Given the description of an element on the screen output the (x, y) to click on. 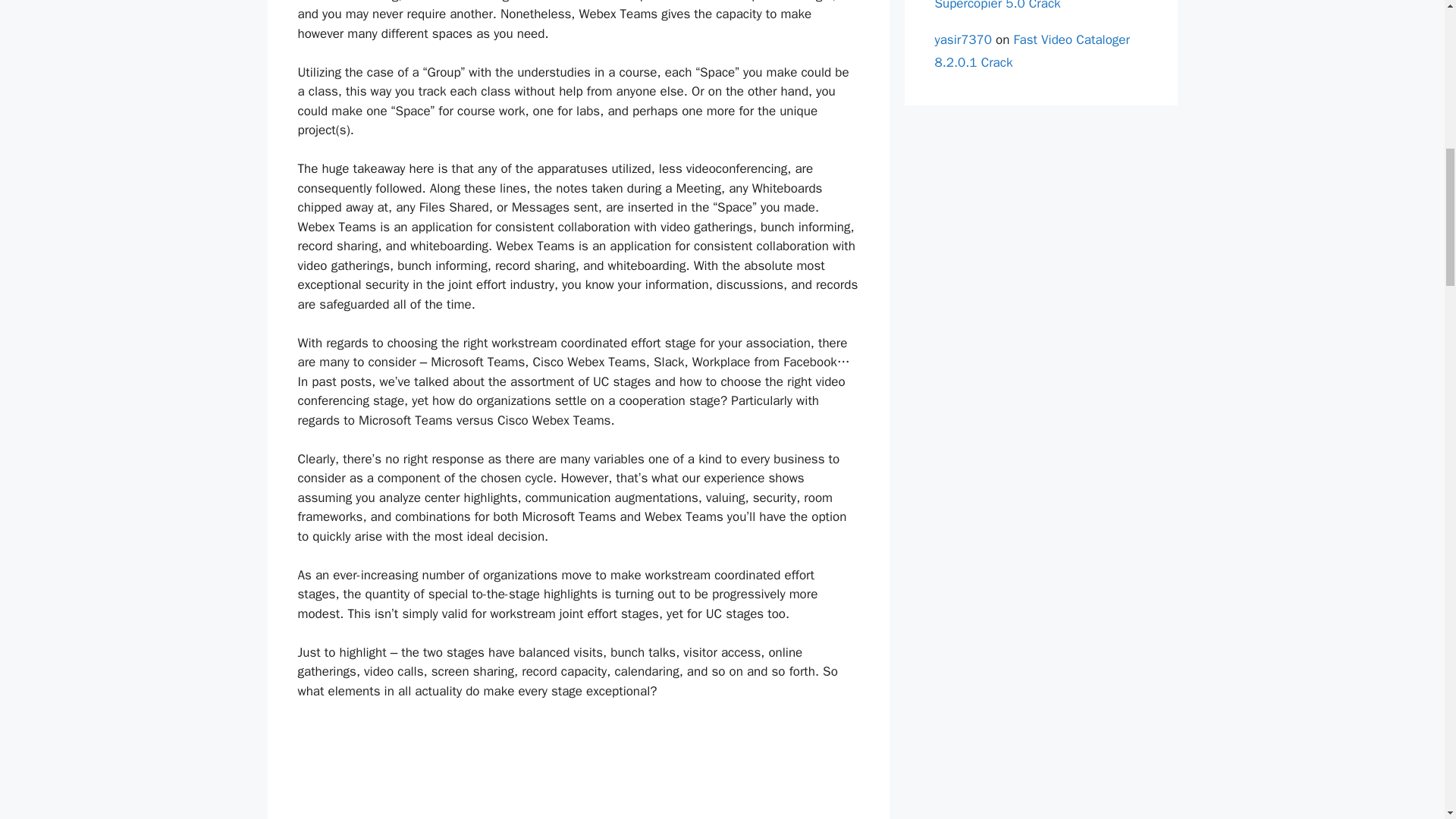
Supercopier 5.0 Crack (996, 5)
yasir7370 (962, 39)
Fast Video Cataloger 8.2.0.1 Crack (1031, 51)
